Given the description of an element on the screen output the (x, y) to click on. 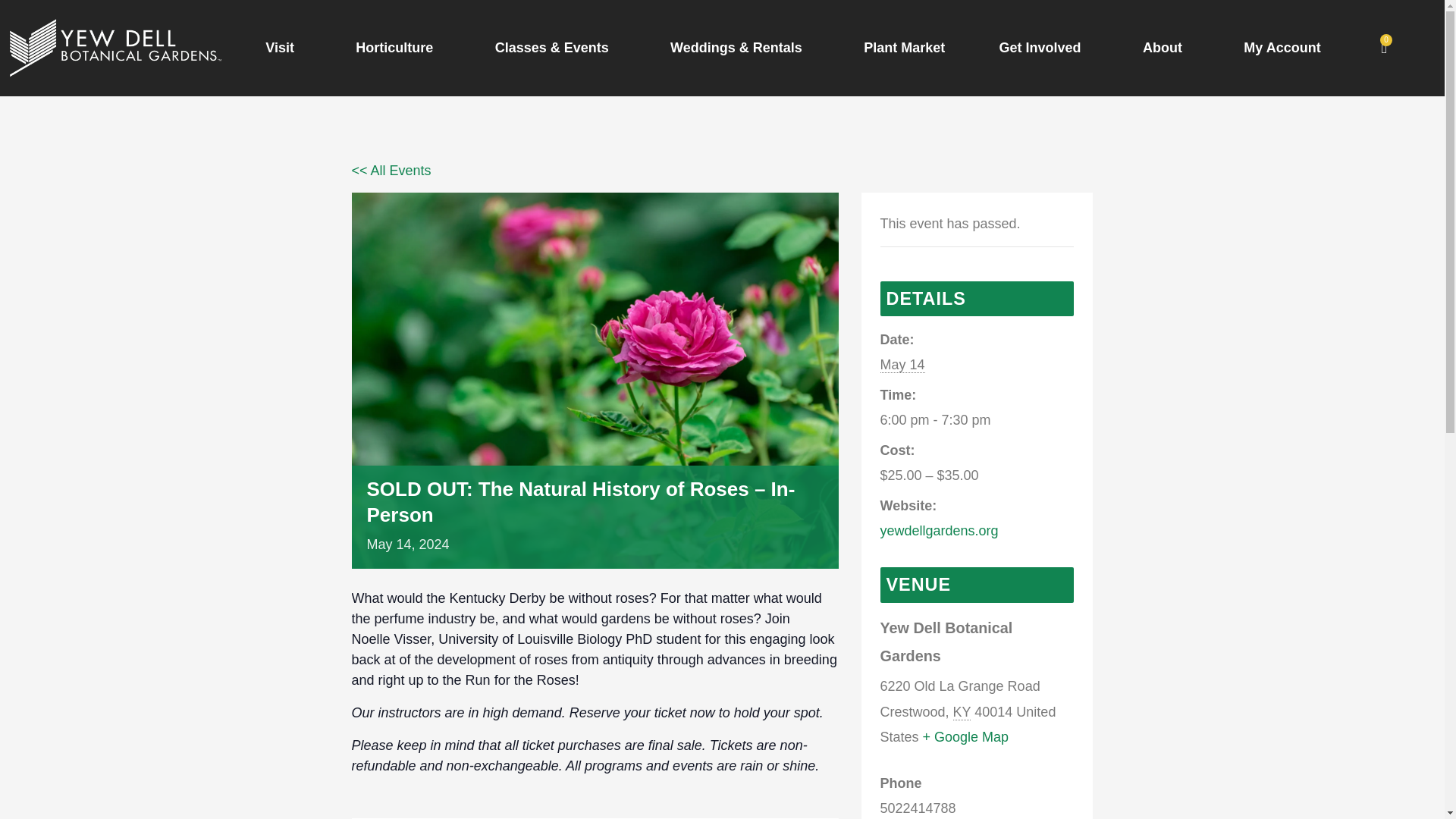
2024-05-14 (901, 365)
Visit (283, 47)
Horticulture (398, 47)
Click to view a Google Map (966, 736)
Get Involved (1043, 47)
Kentucky (962, 712)
Plant Market (904, 47)
About (1165, 47)
My Account (1282, 47)
2024-05-14 (976, 420)
